Given the description of an element on the screen output the (x, y) to click on. 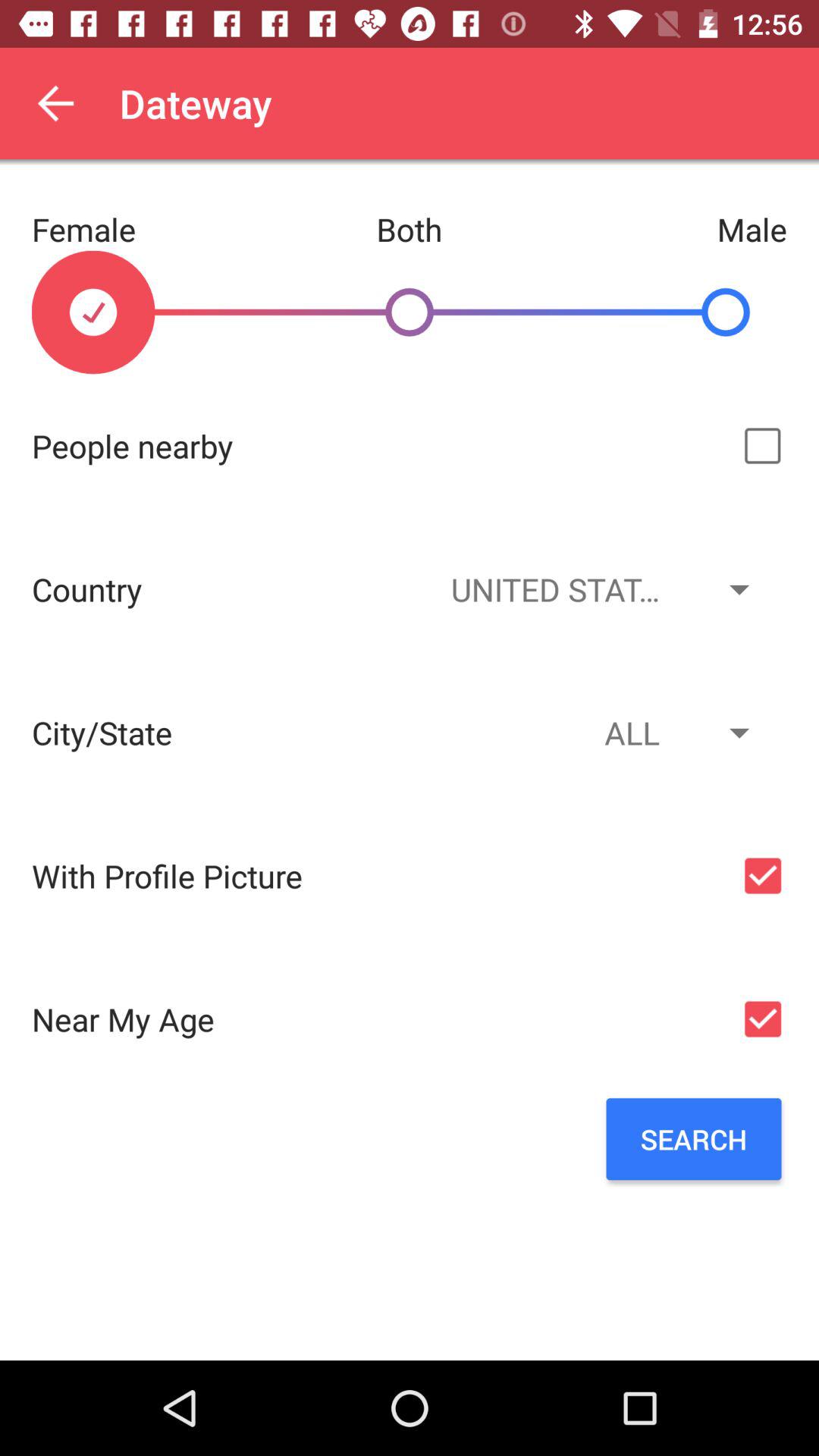
select the check box which is above search button on the page (762, 1018)
click on the search option (693, 1139)
click on the text all (598, 732)
select the check box right to with profile picture (762, 875)
select the drop down on right side of text country (598, 589)
select the checkbox which is right to people nearby (762, 446)
